Given the description of an element on the screen output the (x, y) to click on. 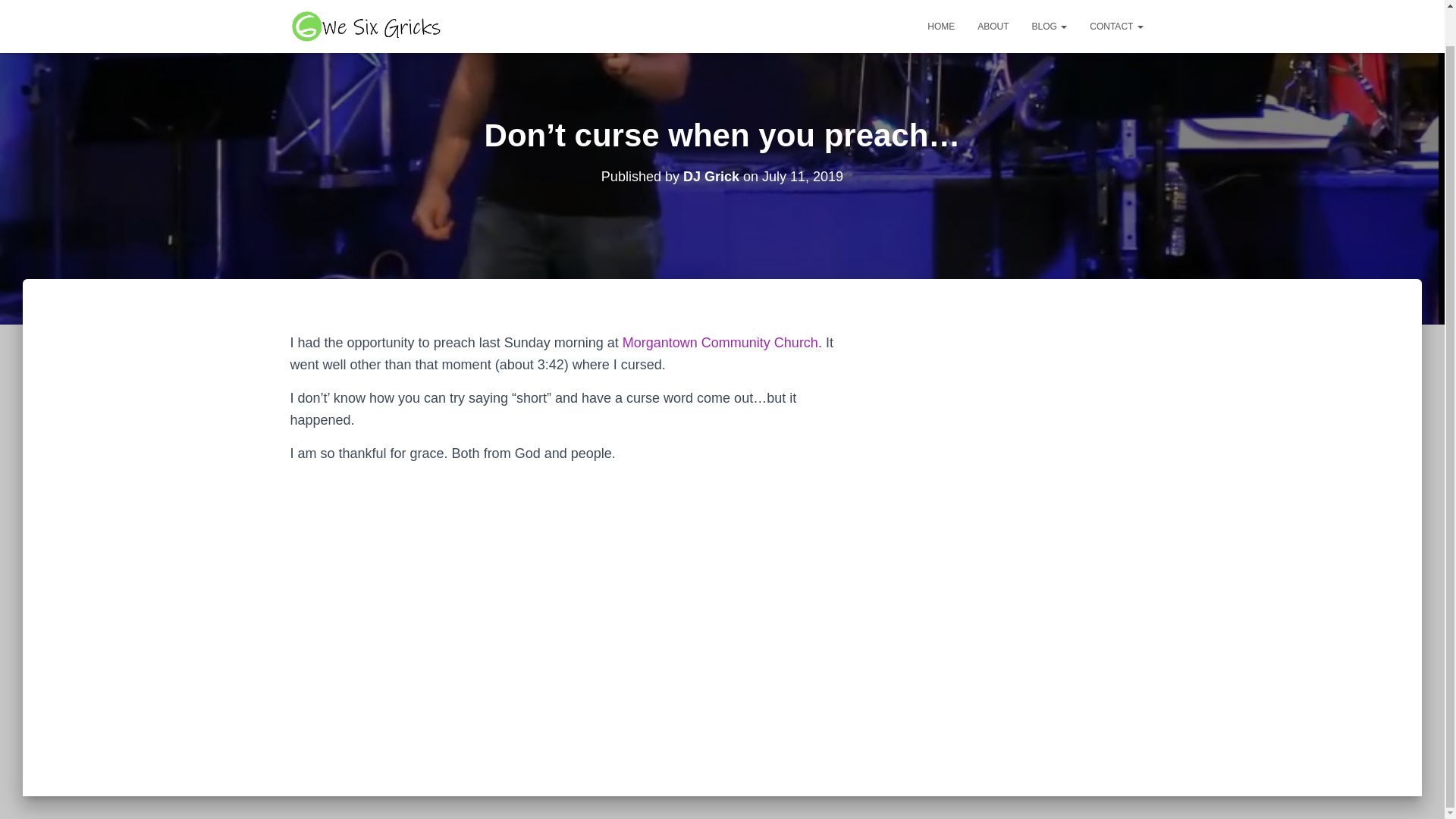
Contact (1116, 3)
Blog (1049, 3)
Morgantown Community Church (720, 342)
CONTACT (1116, 3)
Home (940, 3)
BLOG (1049, 3)
DJ Grick (710, 176)
ABOUT (993, 3)
About (993, 3)
We Six  Gricks (368, 3)
